Given the description of an element on the screen output the (x, y) to click on. 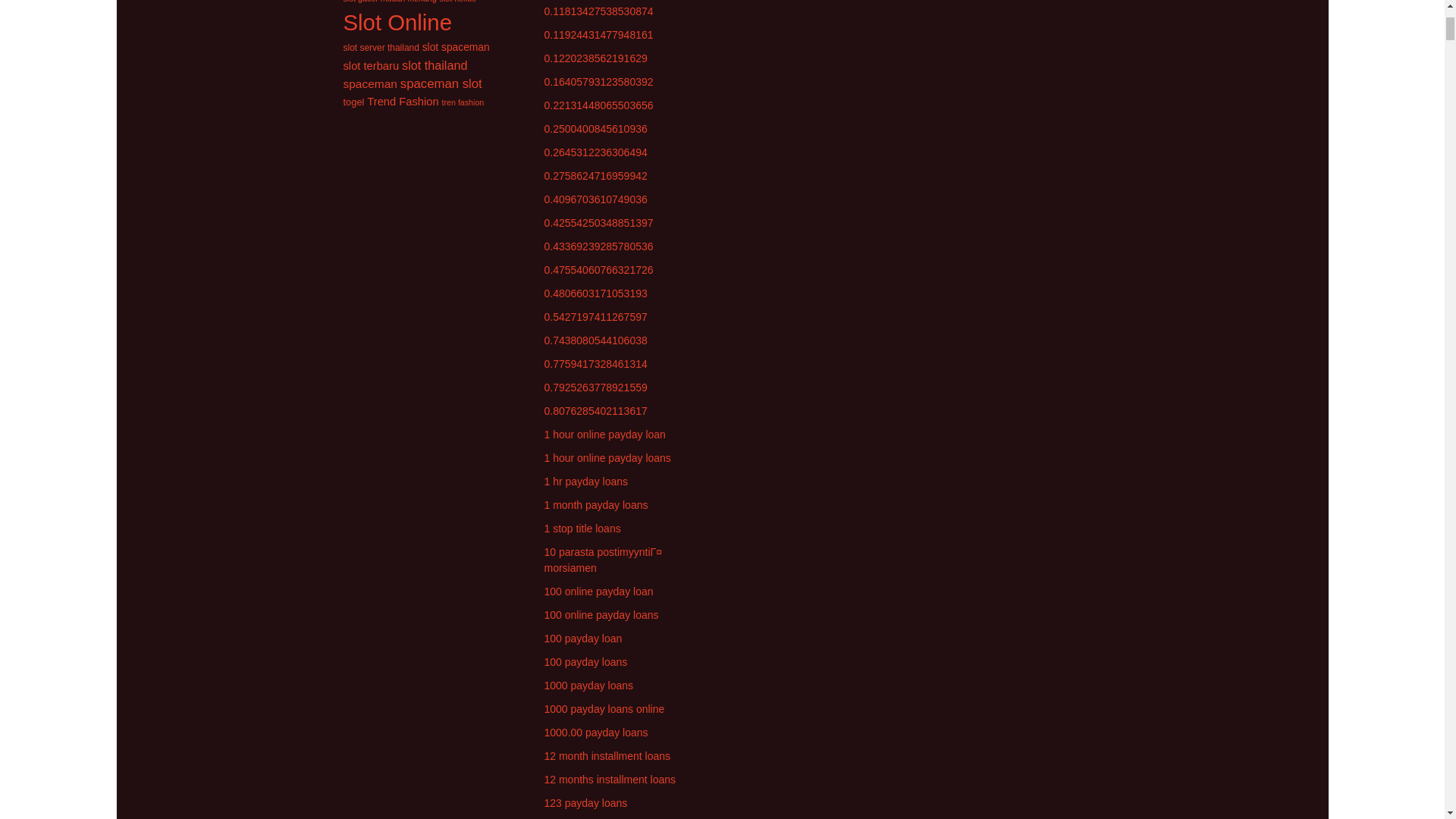
0.11924431477948161 (598, 34)
0.2645312236306494 (595, 152)
0.4096703610749036 (595, 199)
0.2758624716959942 (595, 175)
0.22131448065503656 (598, 105)
0.1220238562191629 (595, 58)
0.16405793123580392 (598, 81)
0.2500400845610936 (595, 128)
0.11813427538530874 (598, 10)
